Given the description of an element on the screen output the (x, y) to click on. 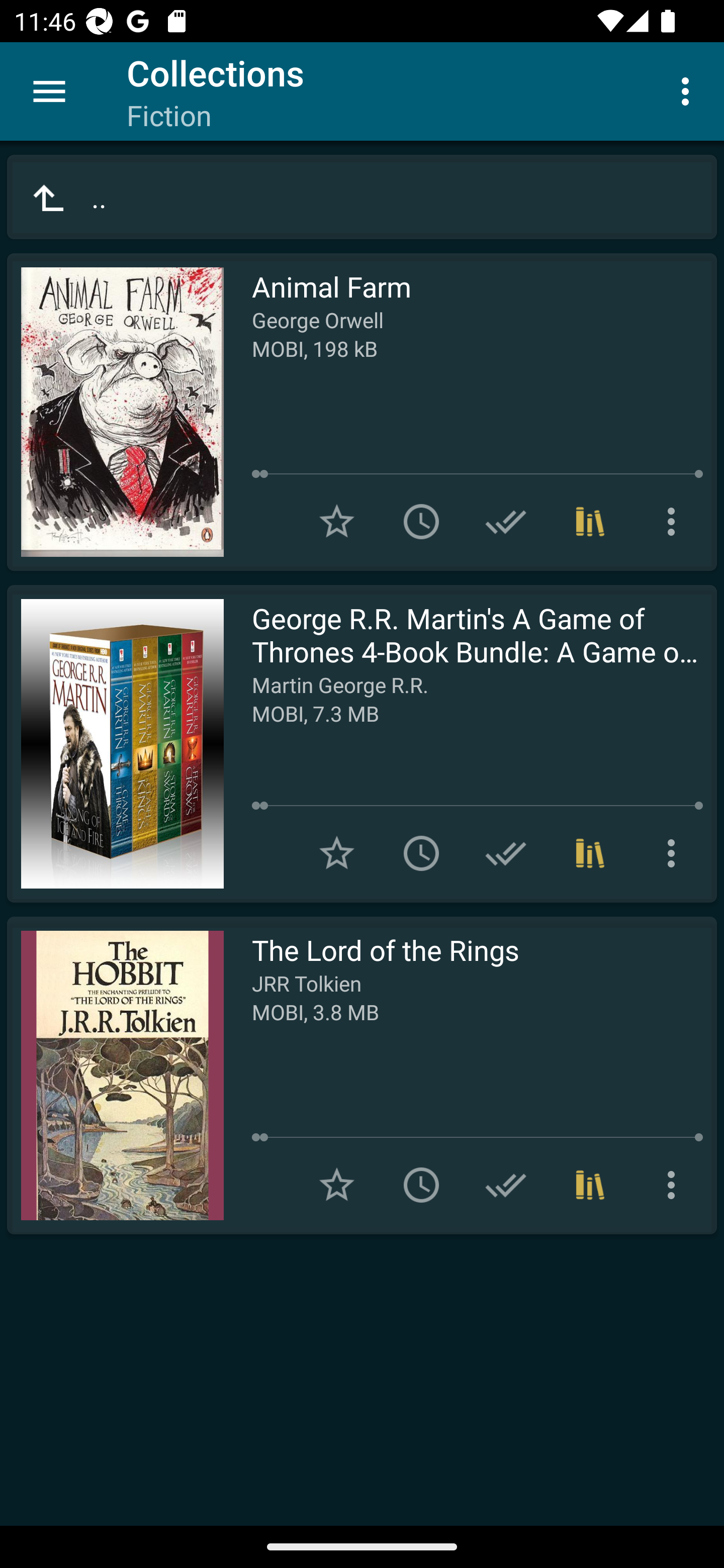
Menu (49, 91)
More options (688, 90)
.. (361, 197)
Read Animal Farm (115, 412)
Add to Favorites (336, 521)
Add to To read (421, 521)
Add to Have read (505, 521)
Collections (1) (590, 521)
More options (674, 521)
Add to Favorites (336, 852)
Add to To read (421, 852)
Add to Have read (505, 852)
Collections (1) (590, 852)
More options (674, 852)
Read The Lord of the Rings (115, 1075)
Add to Favorites (336, 1185)
Add to To read (421, 1185)
Add to Have read (505, 1185)
Collections (1) (590, 1185)
More options (674, 1185)
